Given the description of an element on the screen output the (x, y) to click on. 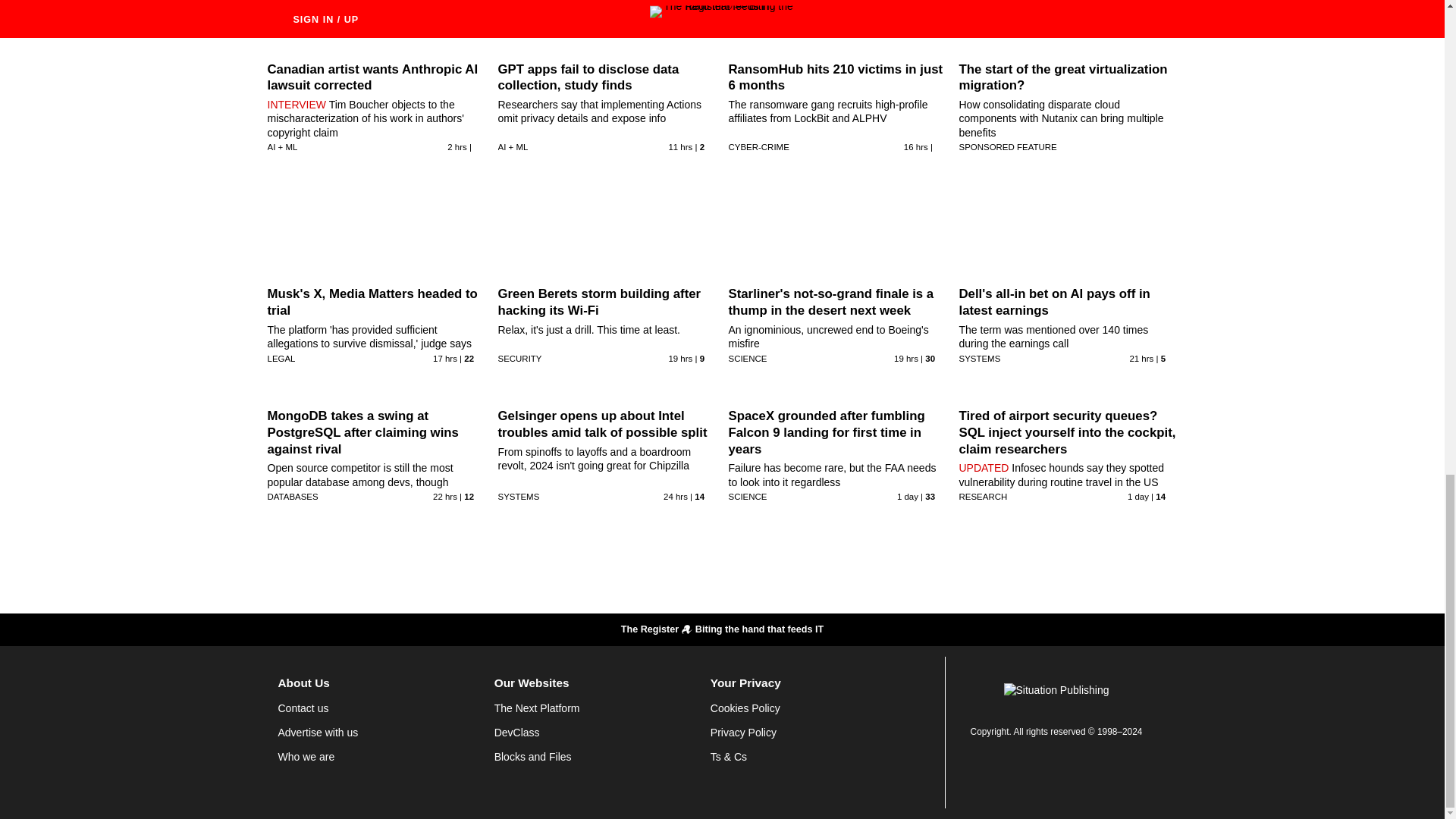
30 Aug 2024 23:55 (916, 146)
30 Aug 2024 17:30 (444, 496)
30 Aug 2024 13:28 (1137, 496)
30 Aug 2024 20:30 (905, 358)
30 Aug 2024 16:0 (675, 496)
30 Aug 2024 21:0 (680, 358)
31 Aug 2024 13:29 (456, 146)
30 Aug 2024 14:34 (907, 496)
31 Aug 2024 5:0 (680, 146)
30 Aug 2024 19:0 (1141, 358)
